Given the description of an element on the screen output the (x, y) to click on. 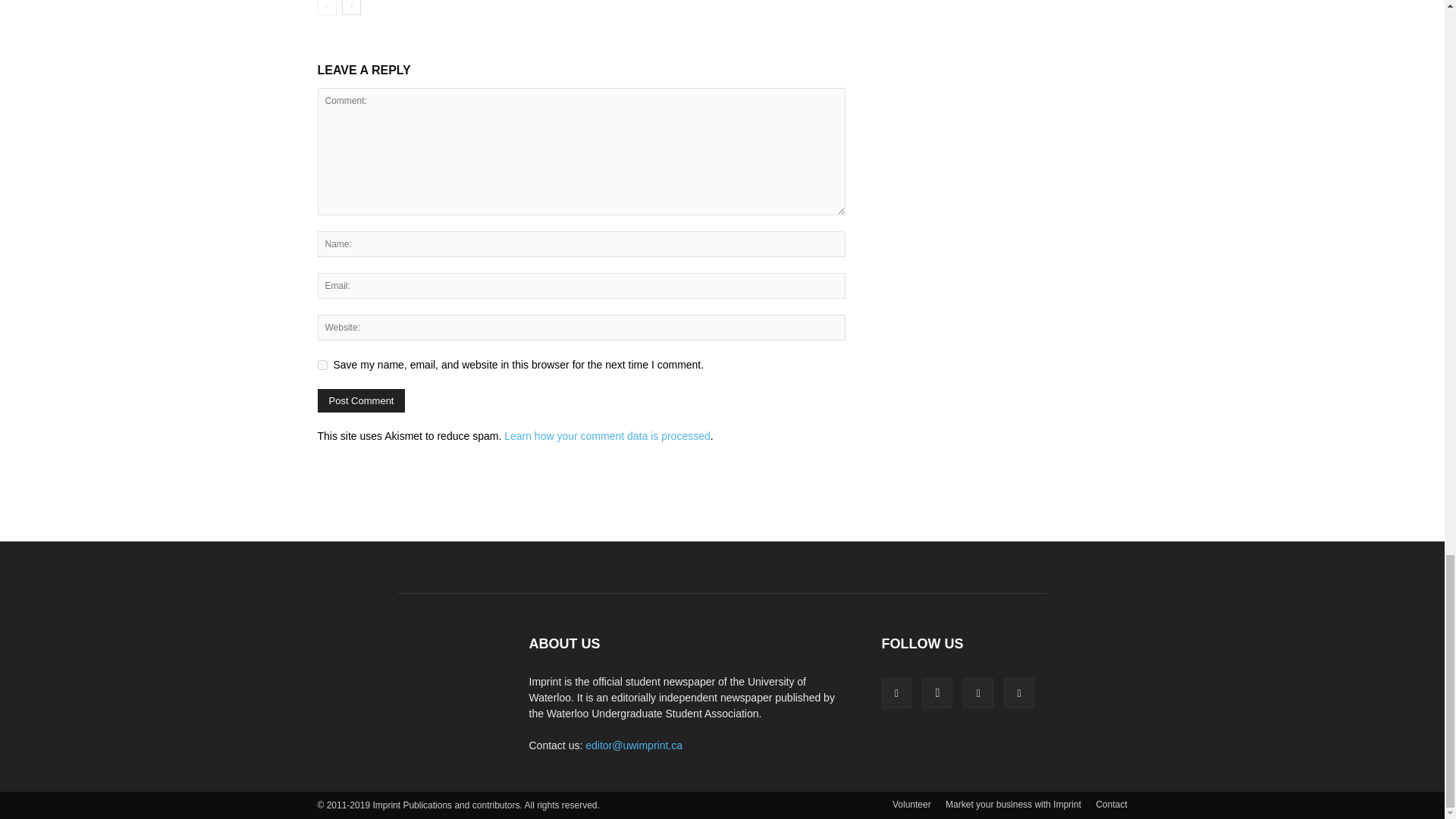
Post Comment (360, 400)
yes (321, 365)
